Given the description of an element on the screen output the (x, y) to click on. 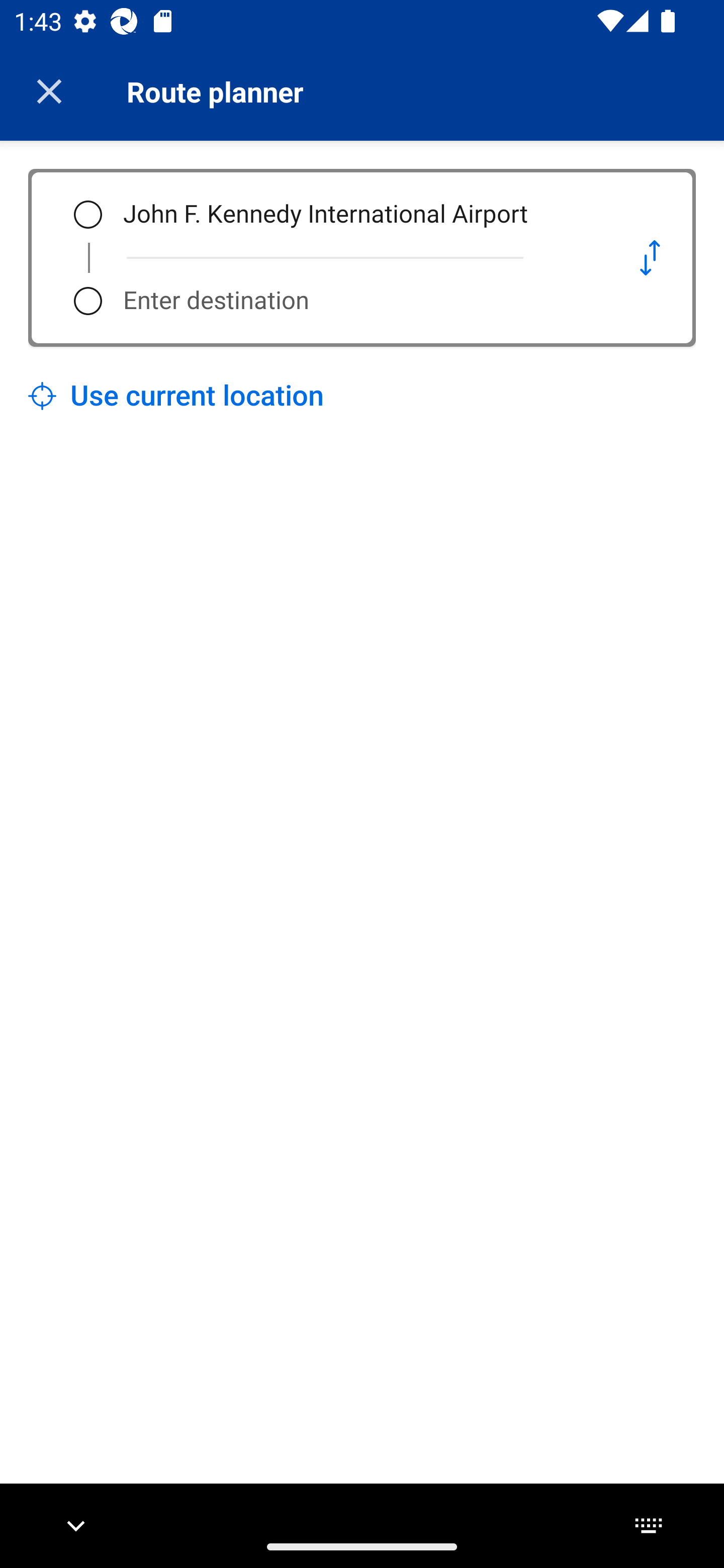
Close (49, 91)
John F. Kennedy International Airport (355, 214)
Swap pick-up location and destination (650, 257)
Enter destination (355, 300)
Use current location (176, 395)
